Given the description of an element on the screen output the (x, y) to click on. 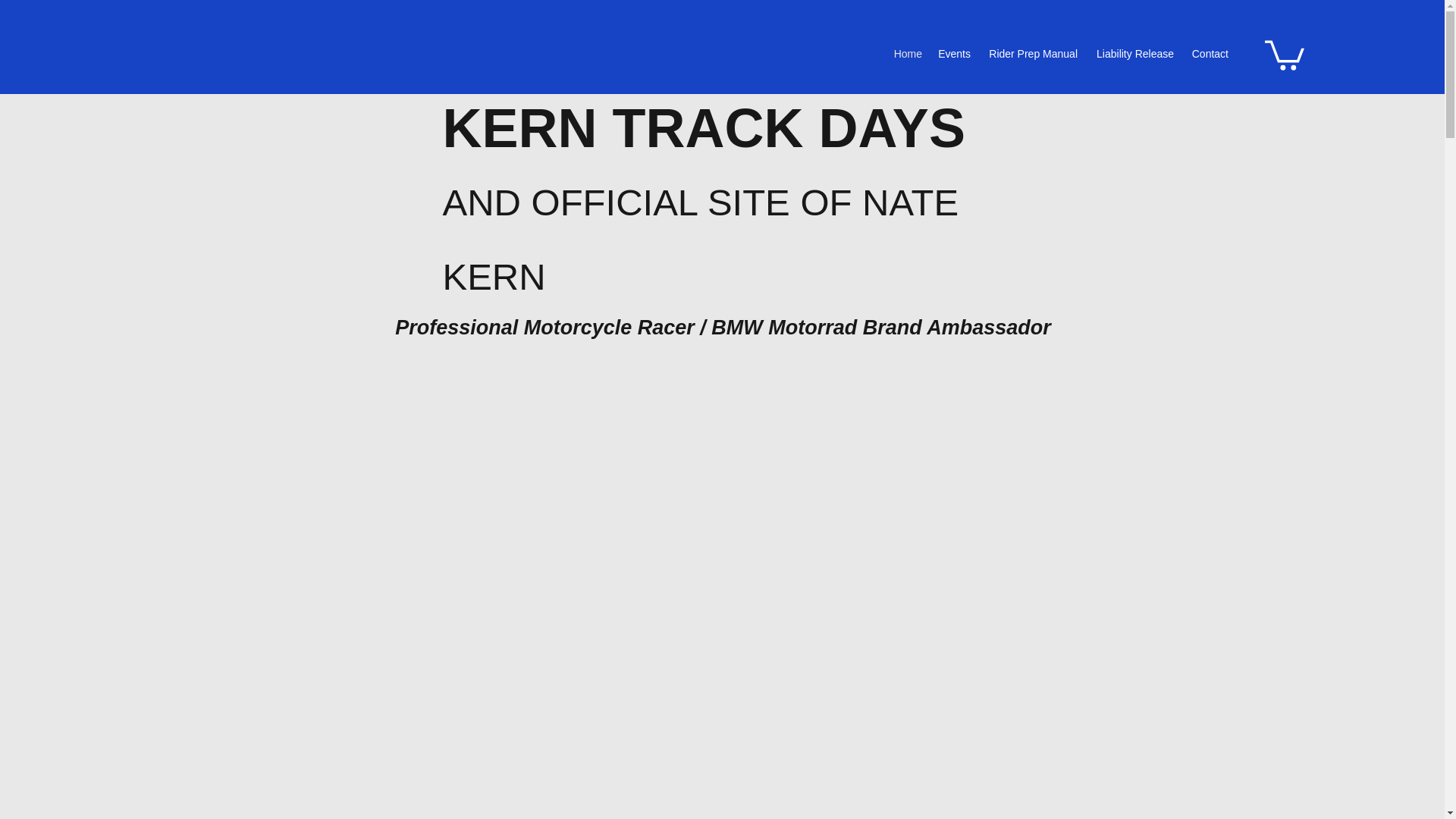
Home (907, 53)
Liability Release (1132, 53)
Events (954, 53)
Contact (1208, 53)
Rider Prep Manual (1031, 53)
